Given the description of an element on the screen output the (x, y) to click on. 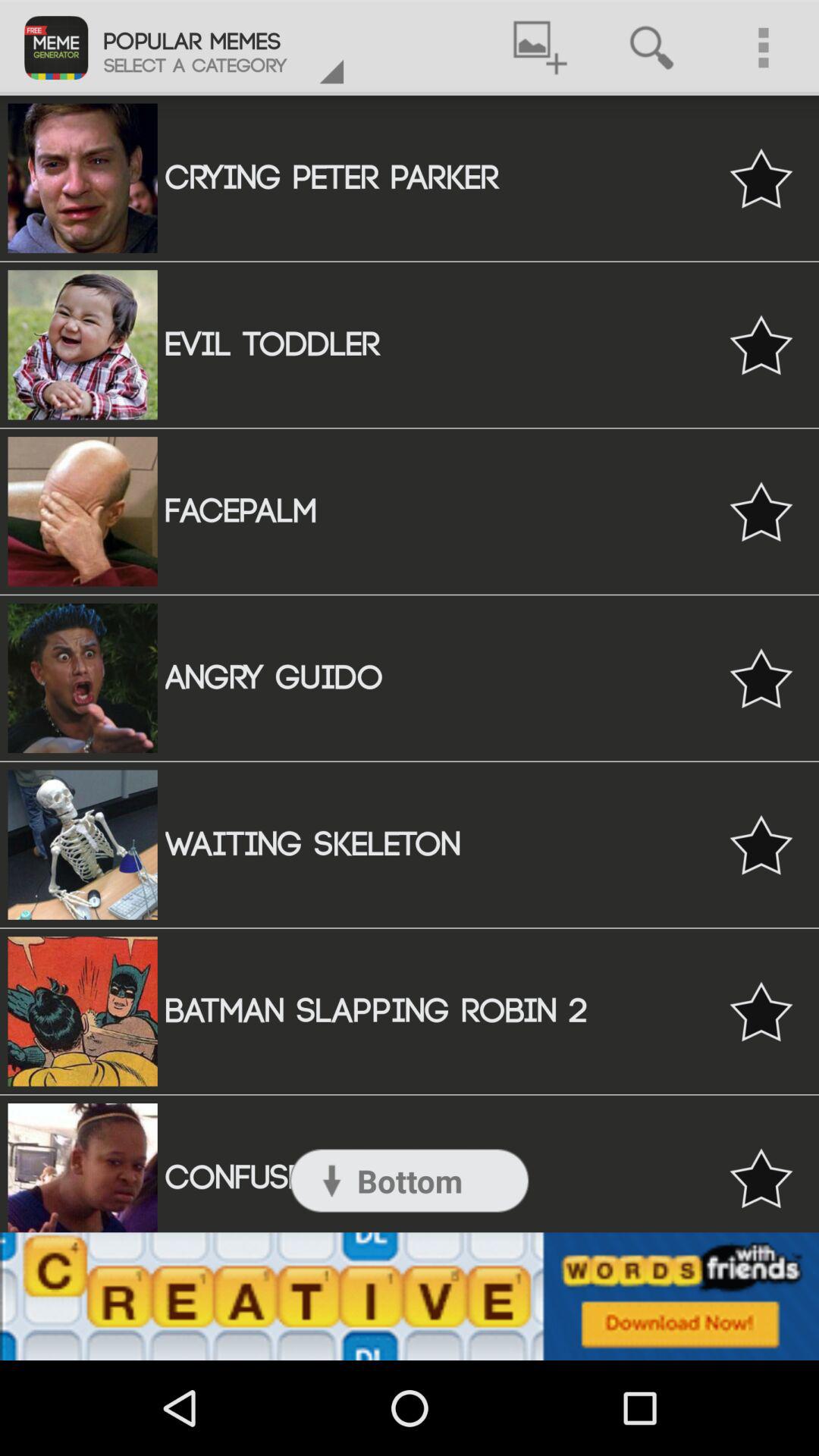
favorite this meme (761, 1177)
